Given the description of an element on the screen output the (x, y) to click on. 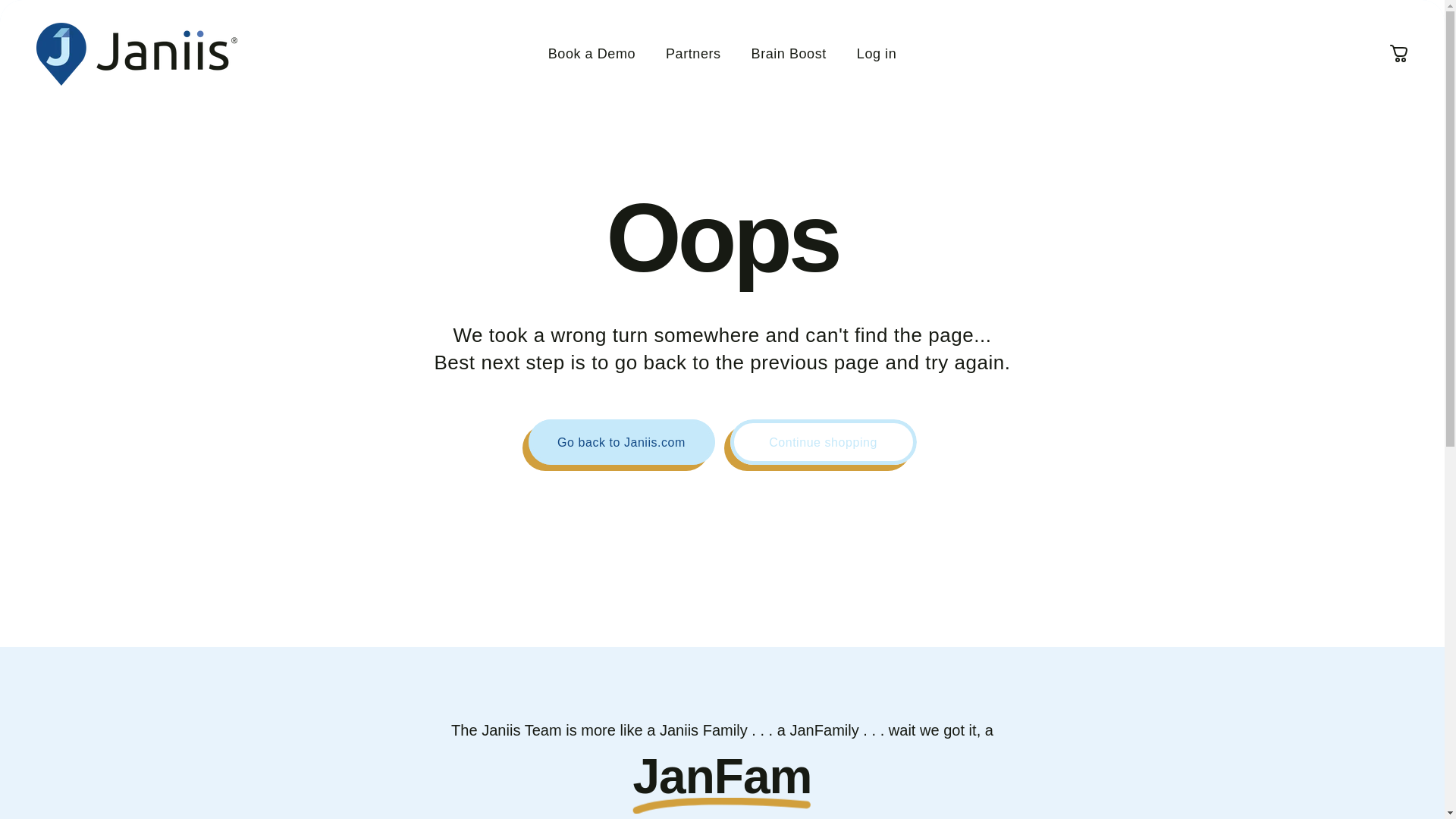
Brain Boost (788, 53)
Janiis (136, 53)
Janiis on Instagram (1366, 7)
Partners (693, 53)
Continue shopping (822, 442)
Instagram (1366, 7)
TikTok (1400, 7)
Book a Demo (591, 53)
Facebook (1333, 7)
Cart (1398, 53)
Janiis on TikTok (1400, 7)
Go back to Janiis.com (620, 442)
Janiis on Facebook (722, 7)
